Given the description of an element on the screen output the (x, y) to click on. 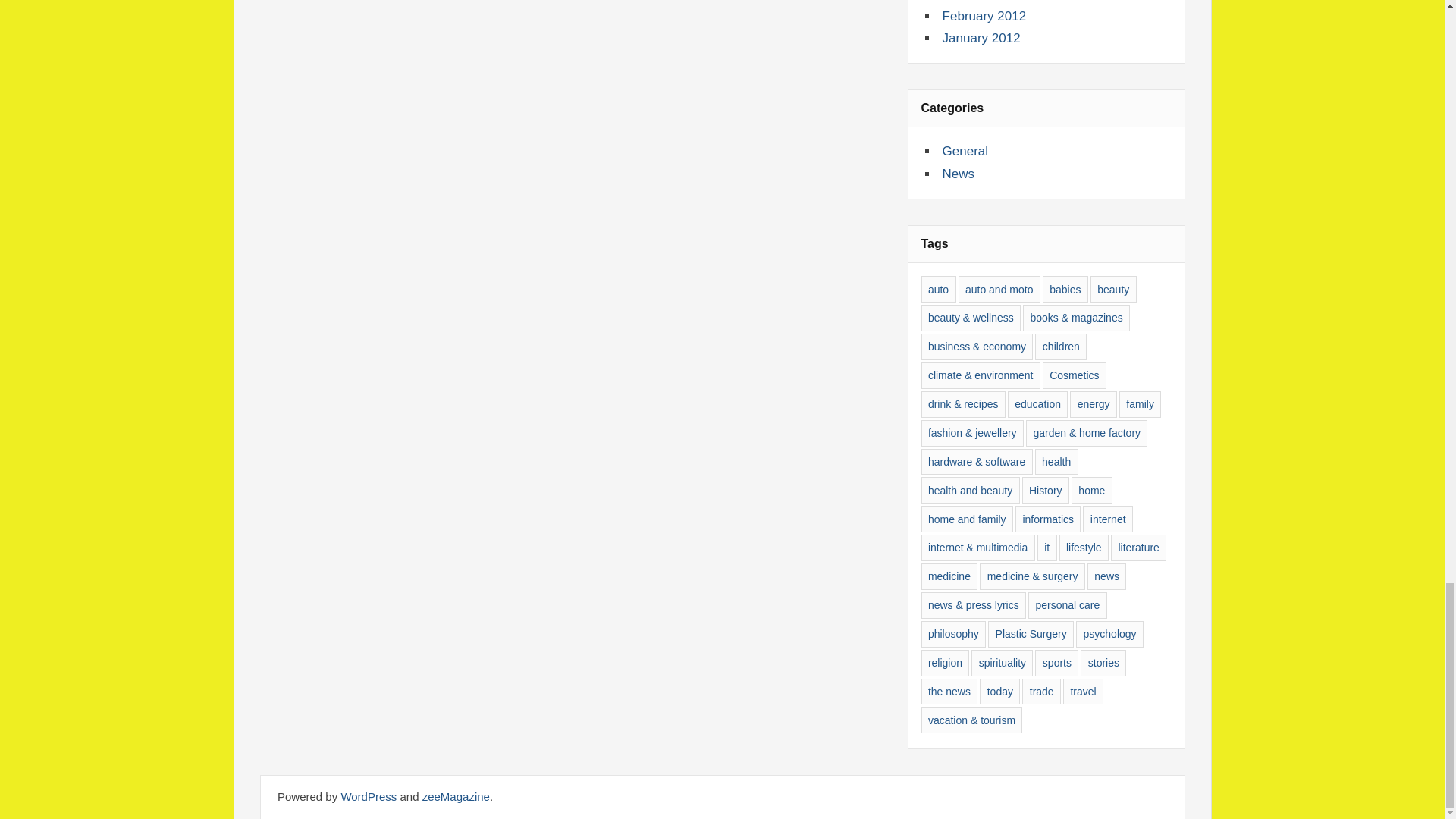
WordPress (368, 796)
zeeMagazine WordPress Theme (455, 796)
